Given the description of an element on the screen output the (x, y) to click on. 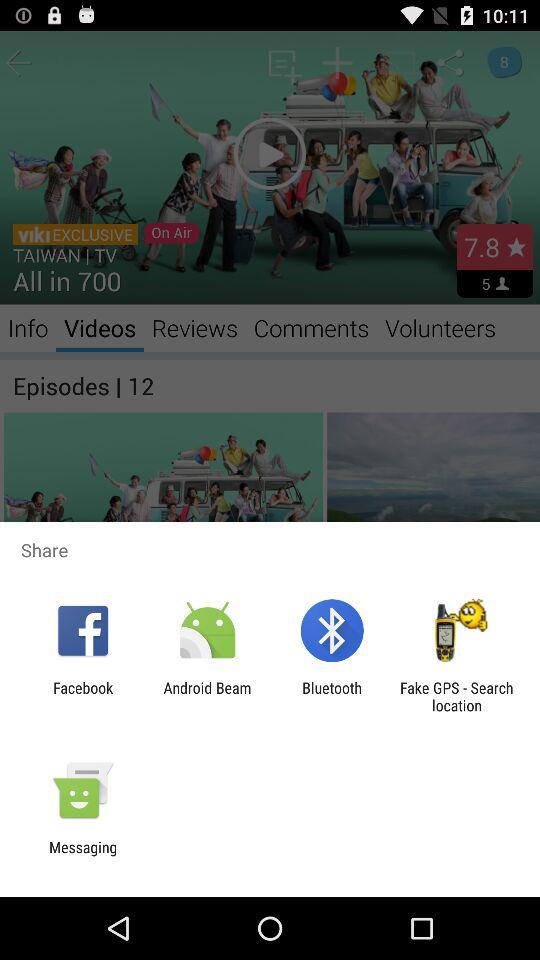
select icon next to the bluetooth (207, 696)
